Given the description of an element on the screen output the (x, y) to click on. 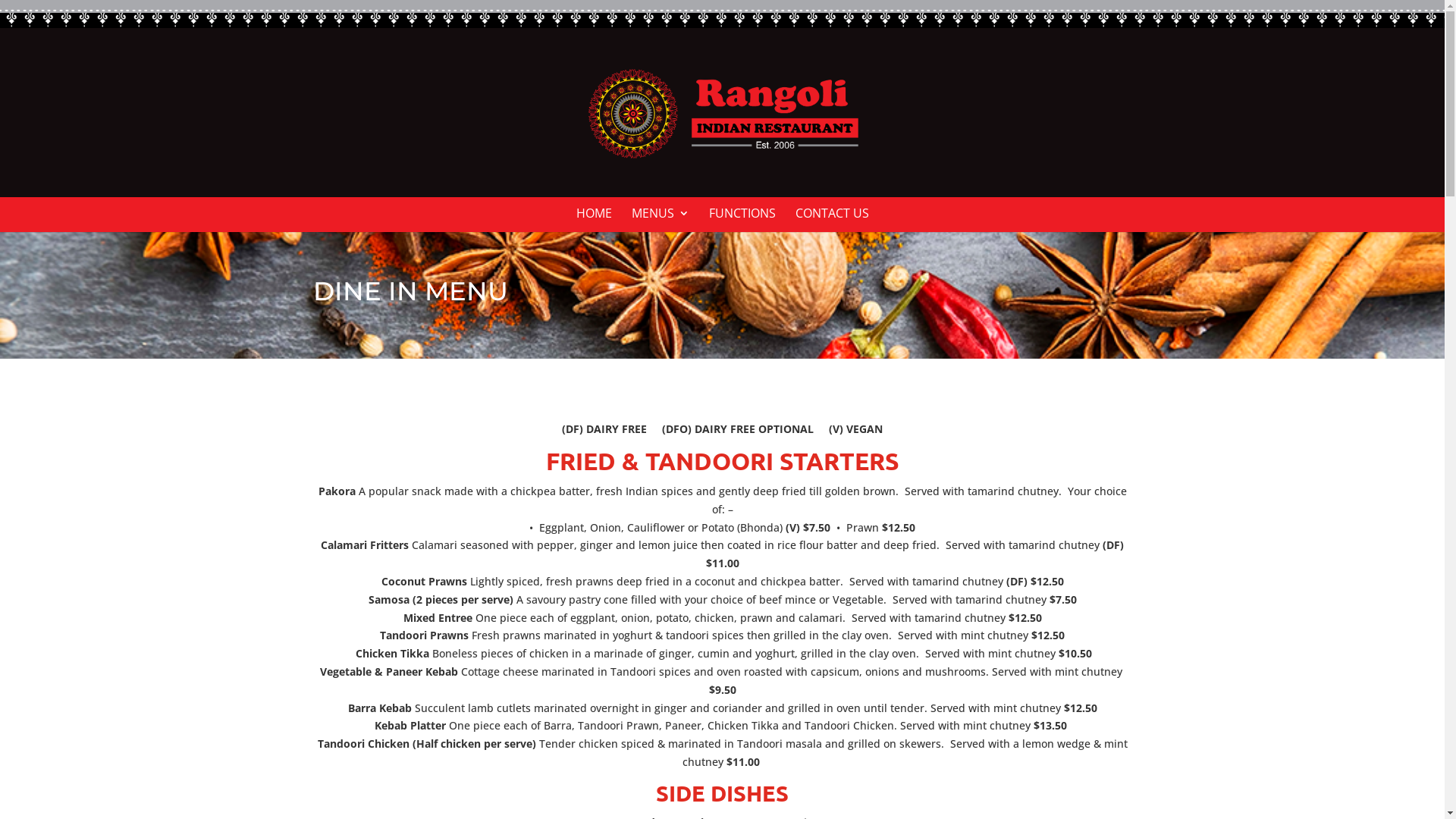
CONTACT US Element type: text (831, 219)
HOME Element type: text (593, 219)
MENUS Element type: text (659, 219)
FUNCTIONS Element type: text (741, 219)
